Given the description of an element on the screen output the (x, y) to click on. 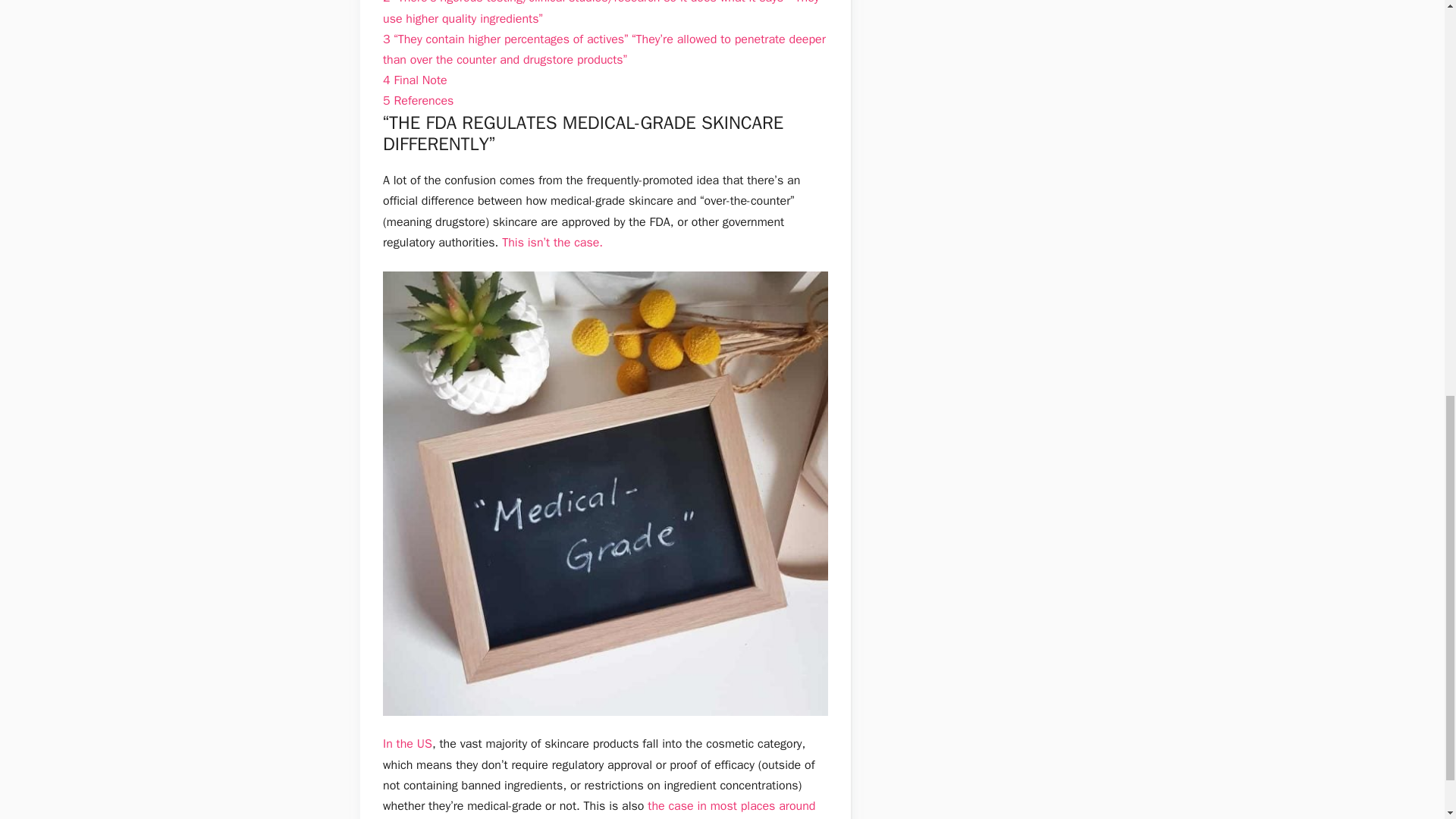
In the US (407, 743)
5 References (417, 100)
the case in (676, 806)
4 Final Note (414, 79)
around (796, 806)
most places (743, 806)
